Given the description of an element on the screen output the (x, y) to click on. 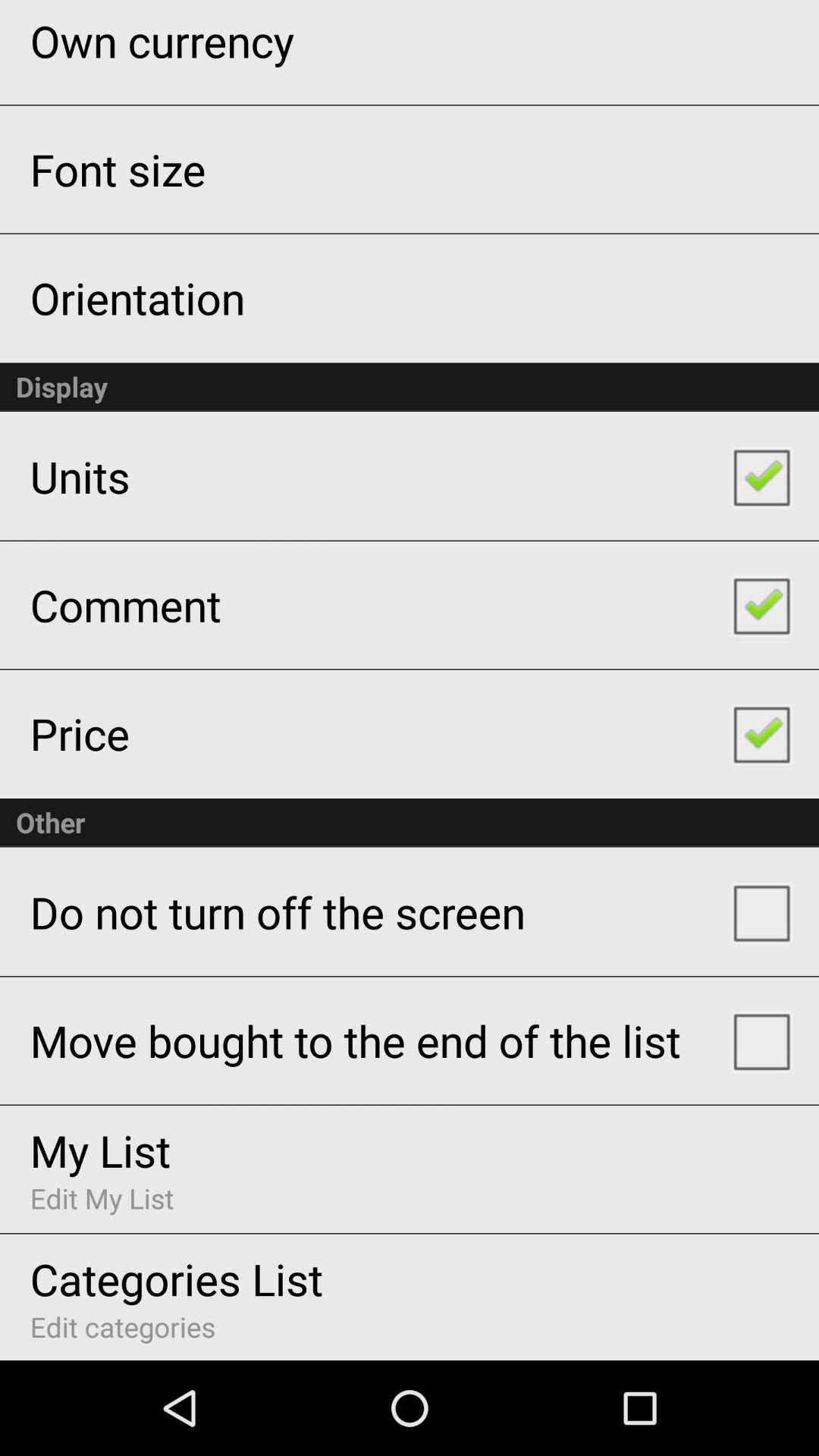
swipe until the do not turn icon (277, 911)
